Given the description of an element on the screen output the (x, y) to click on. 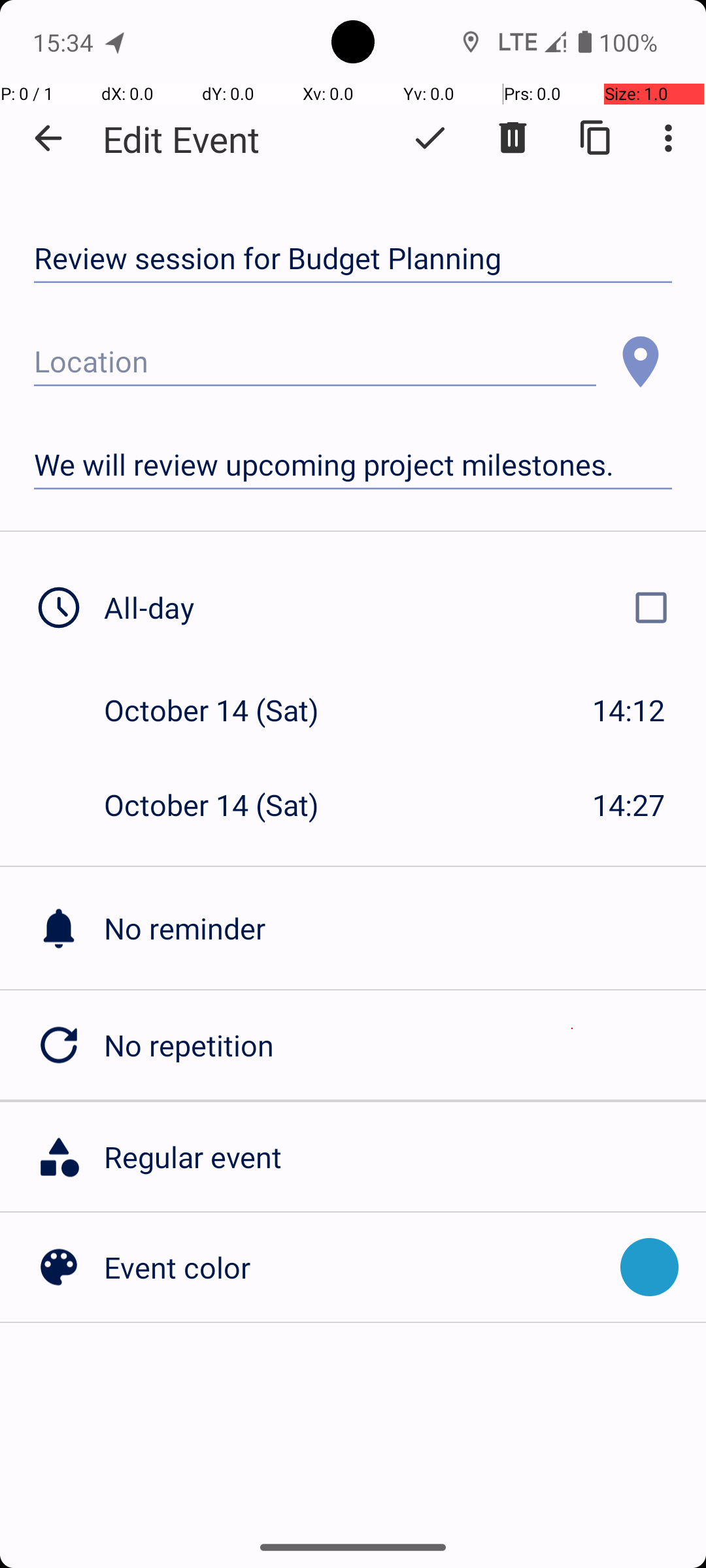
We will review upcoming project milestones. Element type: android.widget.EditText (352, 465)
October 14 (Sat) Element type: android.widget.TextView (224, 709)
14:12 Element type: android.widget.TextView (628, 709)
14:27 Element type: android.widget.TextView (628, 804)
